Given the description of an element on the screen output the (x, y) to click on. 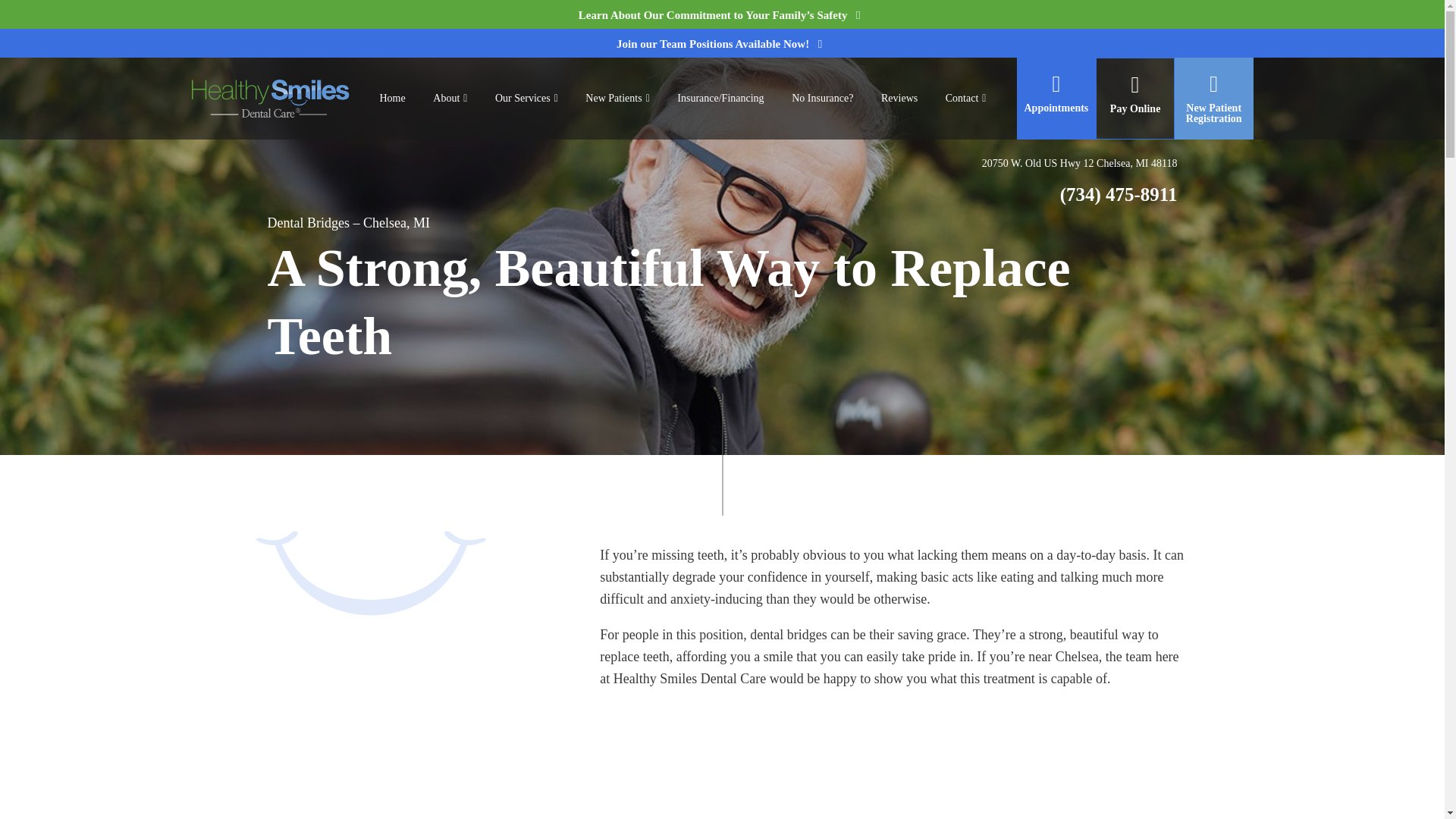
About (449, 98)
Dentist Chelsea, MI (391, 97)
Join our Team Positions Available Now! (721, 43)
Our Services (526, 98)
About Us (449, 98)
Dental Services (526, 98)
Home (391, 97)
